Given the description of an element on the screen output the (x, y) to click on. 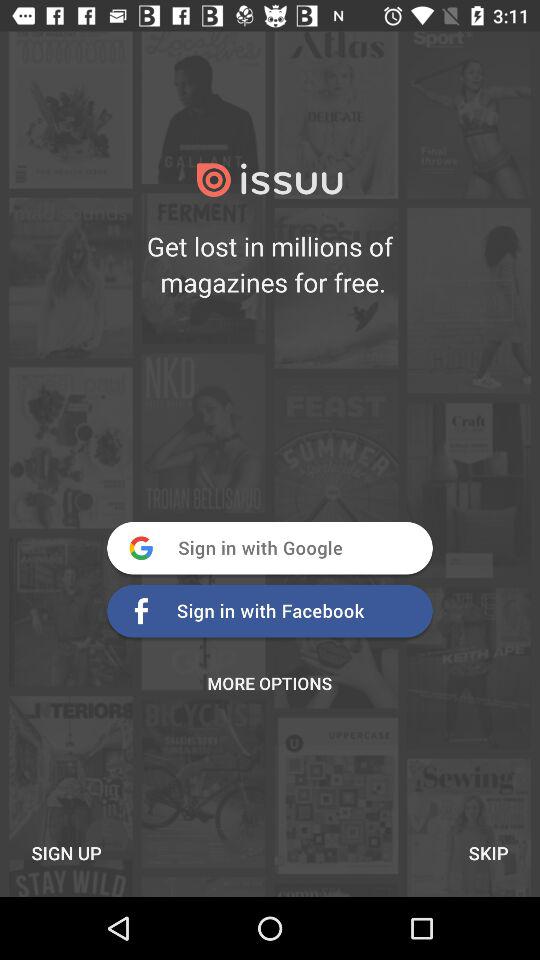
jump to the more options item (269, 683)
